Given the description of an element on the screen output the (x, y) to click on. 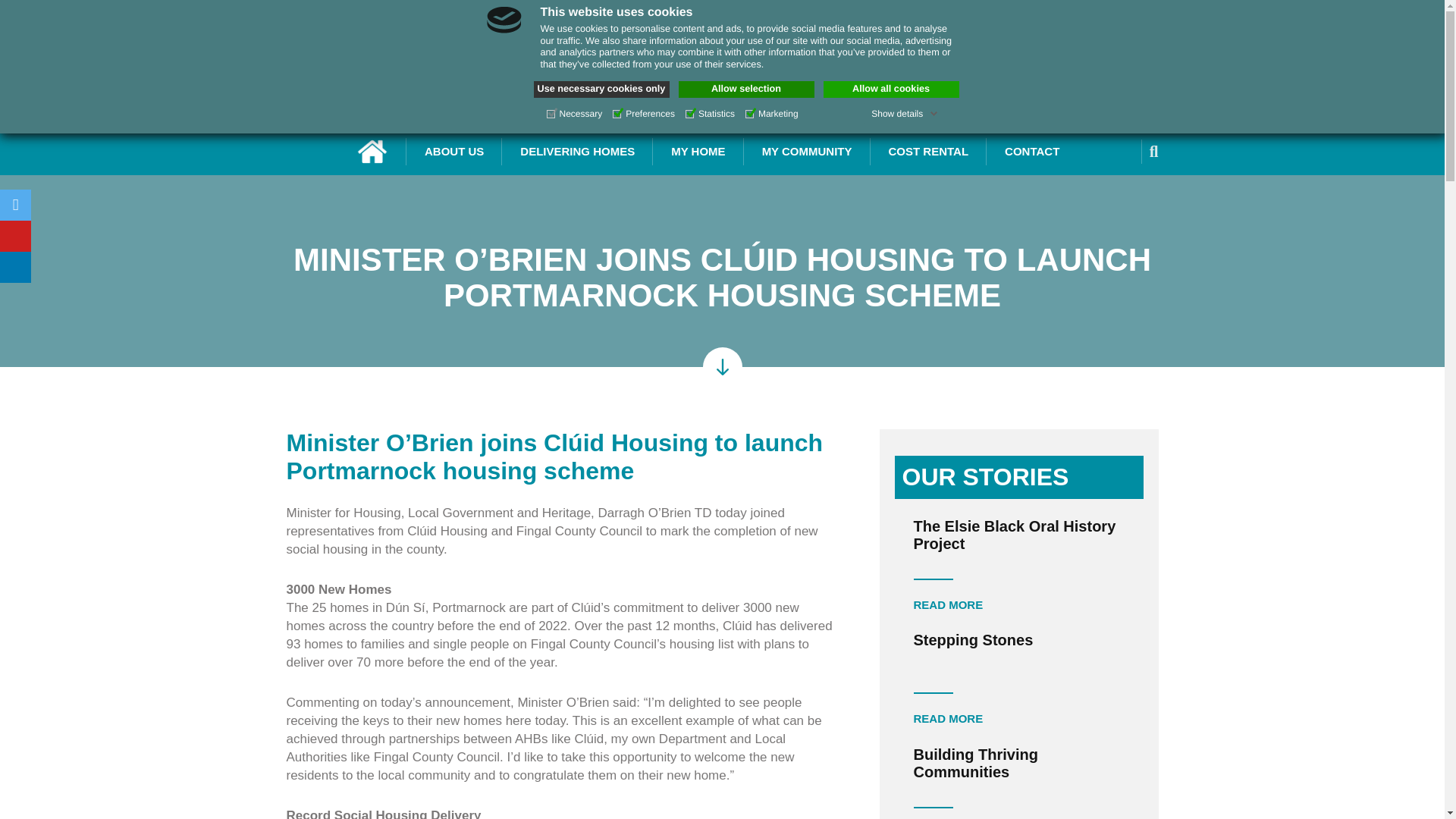
Show details (903, 113)
Allow selection (745, 89)
Allow all cookies (891, 89)
Use necessary cookies only (601, 89)
